Given the description of an element on the screen output the (x, y) to click on. 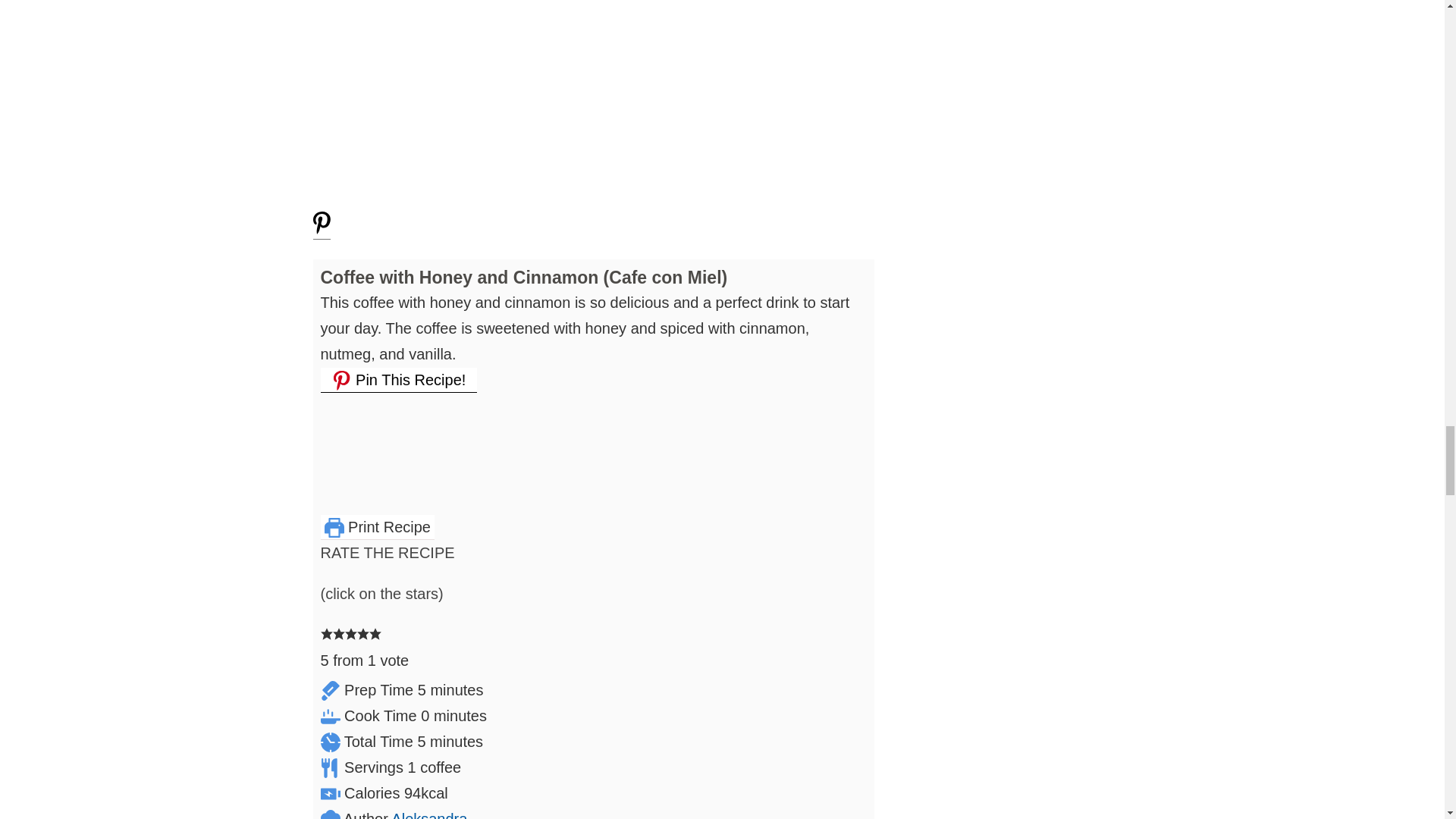
pin it (321, 230)
